Given the description of an element on the screen output the (x, y) to click on. 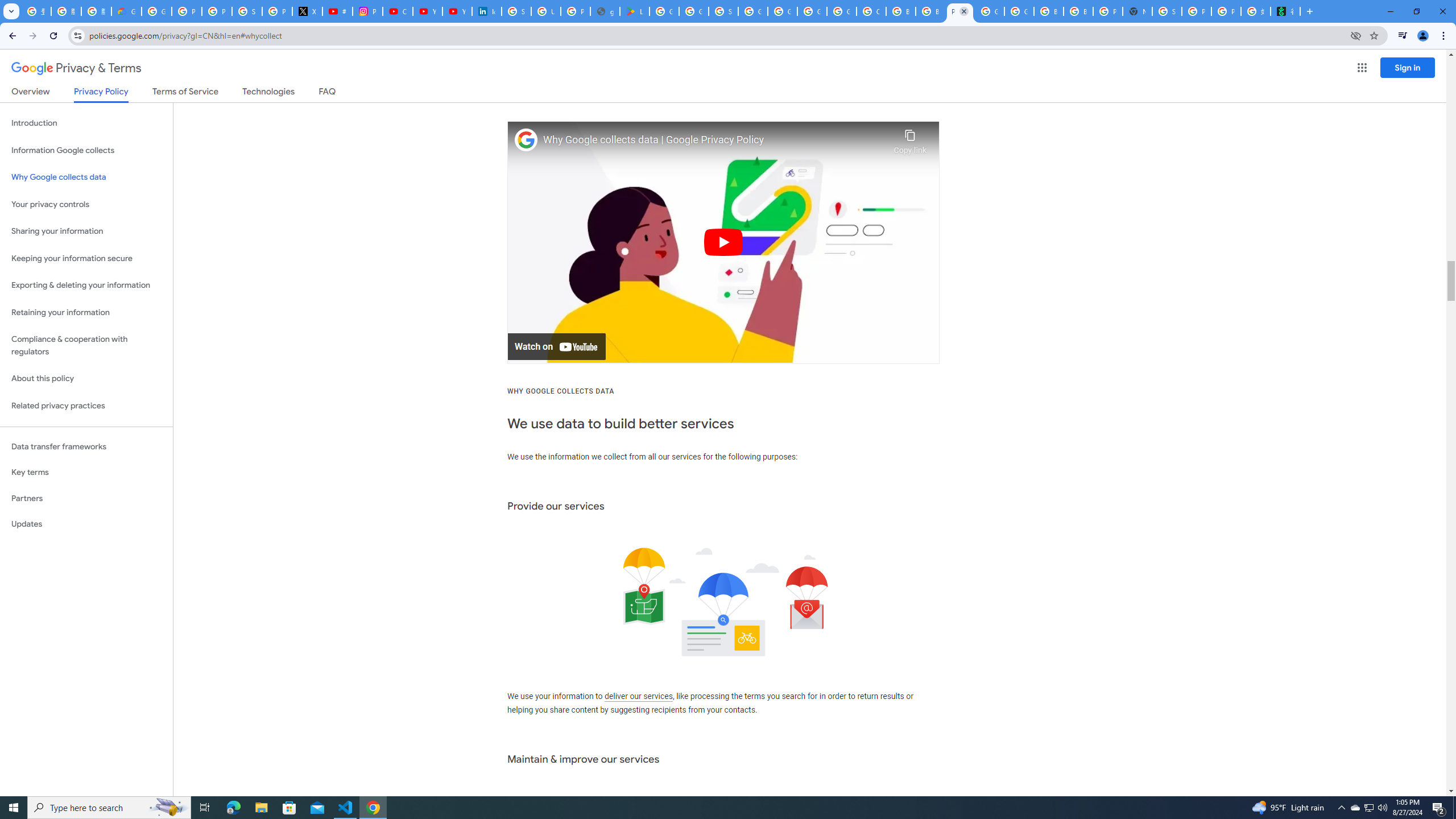
Sharing your information (86, 230)
Google Cloud Privacy Notice (126, 11)
Browse Chrome as a guest - Computer - Google Chrome Help (930, 11)
Copy link (909, 139)
FAQ (327, 93)
